Given the description of an element on the screen output the (x, y) to click on. 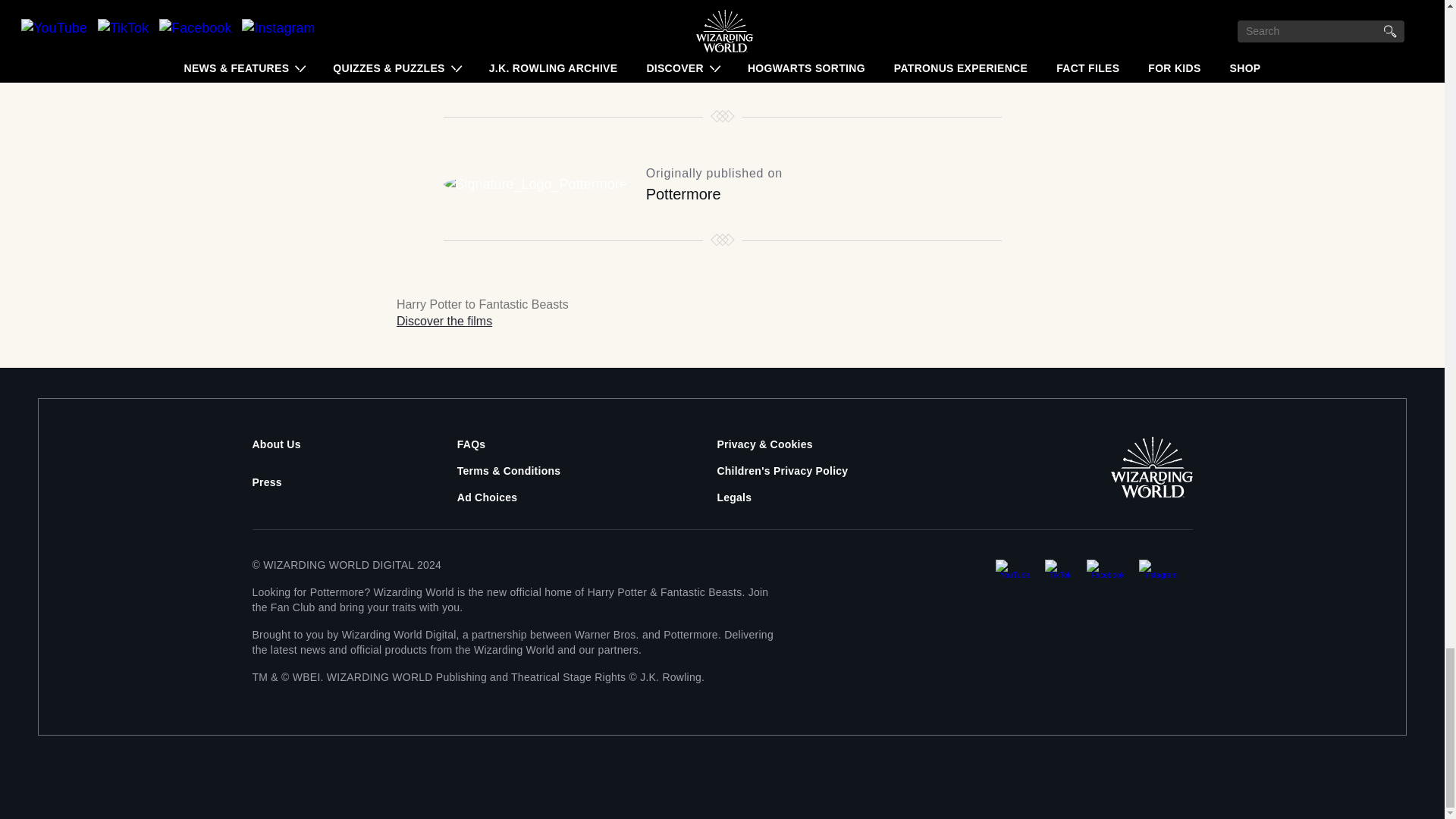
Ad Choices (487, 497)
FAQs (471, 444)
About Us (275, 444)
Children's Privacy Policy (781, 470)
Discover the films (444, 320)
Ad Choices (487, 497)
Legals (733, 497)
Legals (733, 497)
Children's Privacy Policy (781, 470)
Discover the films (444, 320)
About Us (275, 444)
Press (266, 482)
FAQs (471, 444)
Press (266, 482)
